Given the description of an element on the screen output the (x, y) to click on. 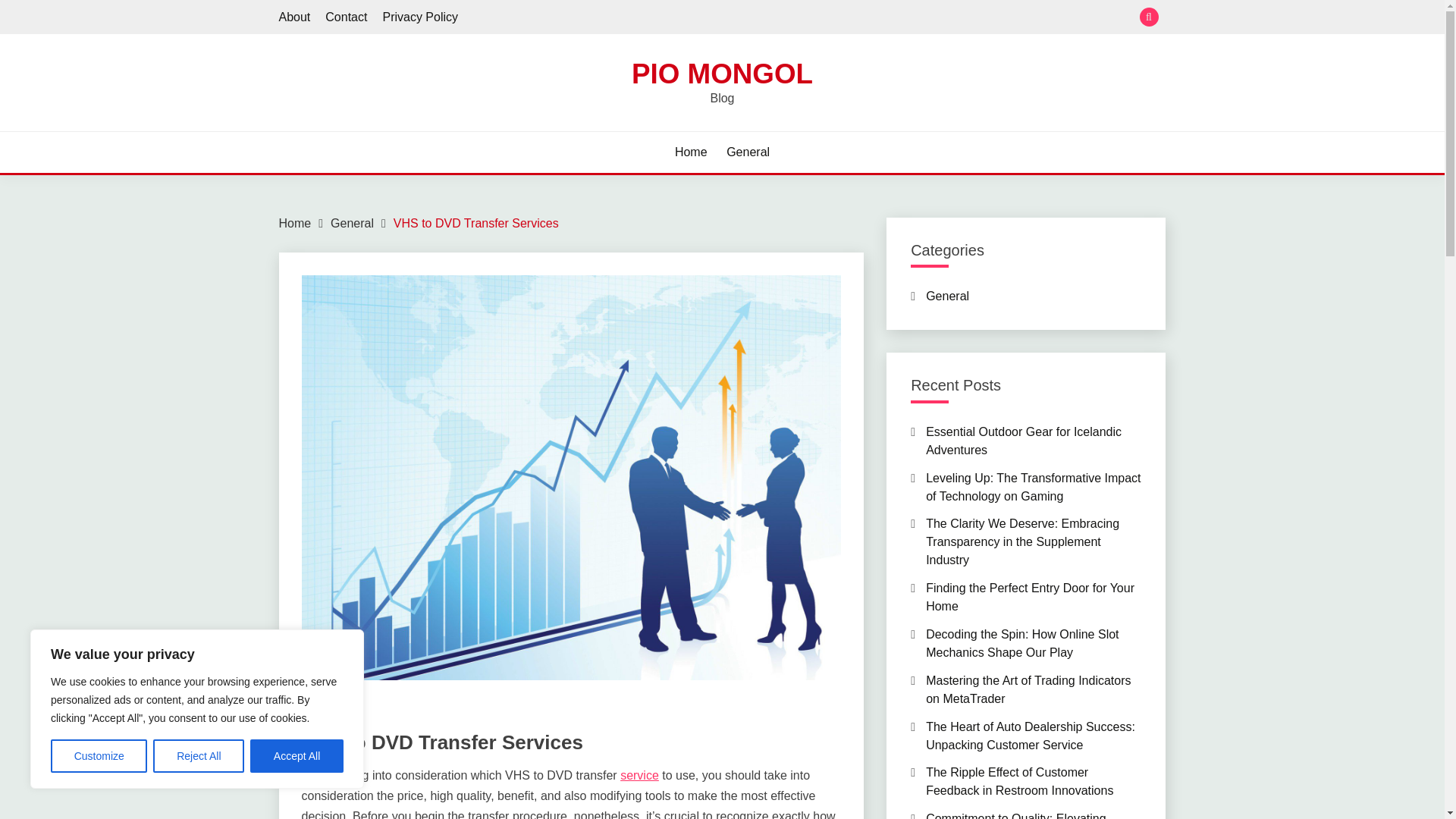
Home (691, 152)
About (295, 16)
Customize (98, 756)
VHS to DVD Transfer Services (476, 223)
General (748, 152)
Reject All (198, 756)
Accept All (296, 756)
General (352, 223)
Home (295, 223)
General (321, 714)
